Given the description of an element on the screen output the (x, y) to click on. 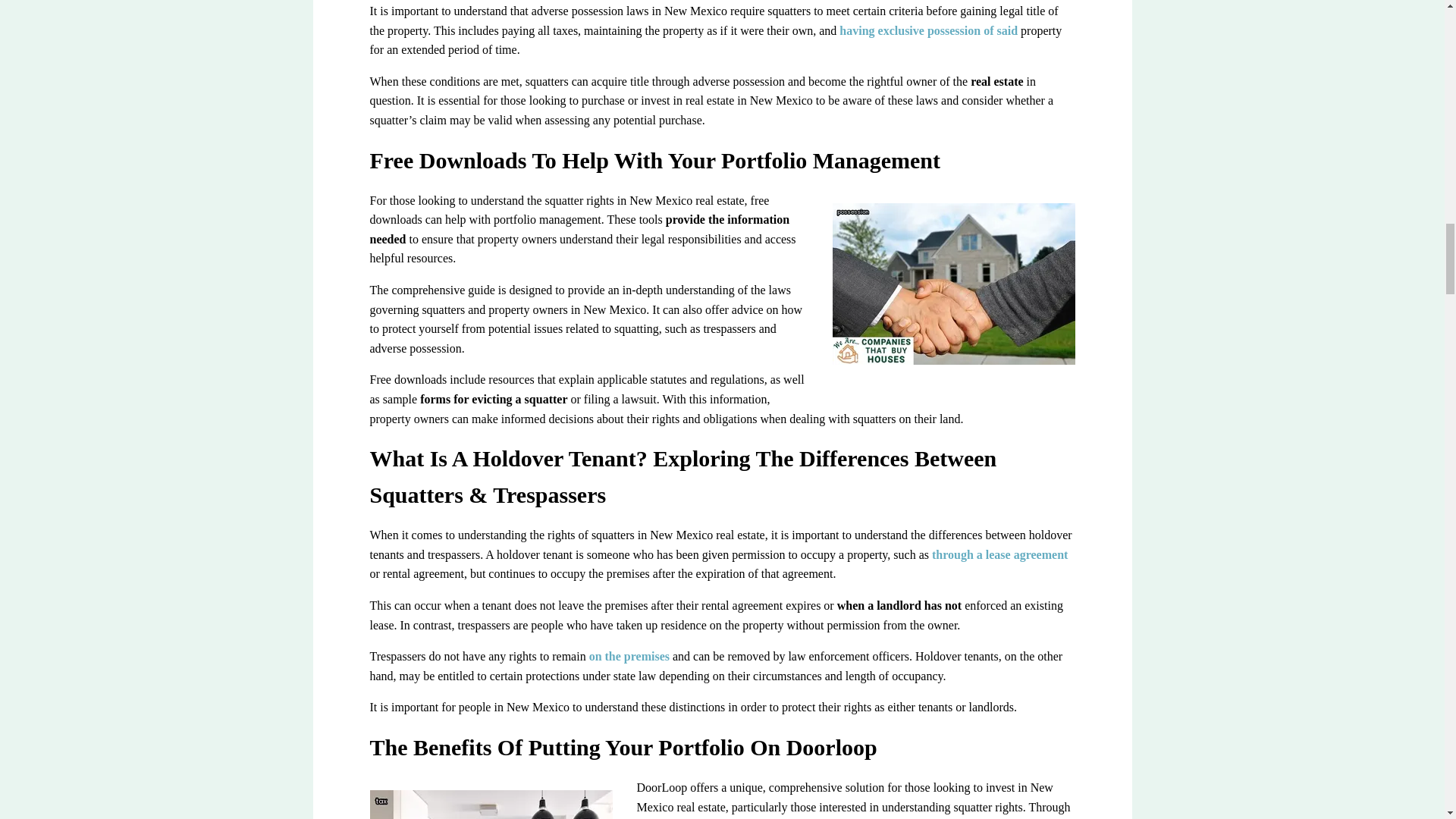
on the premises (629, 656)
through a lease agreement (999, 554)
having exclusive possession of said (928, 30)
